Given the description of an element on the screen output the (x, y) to click on. 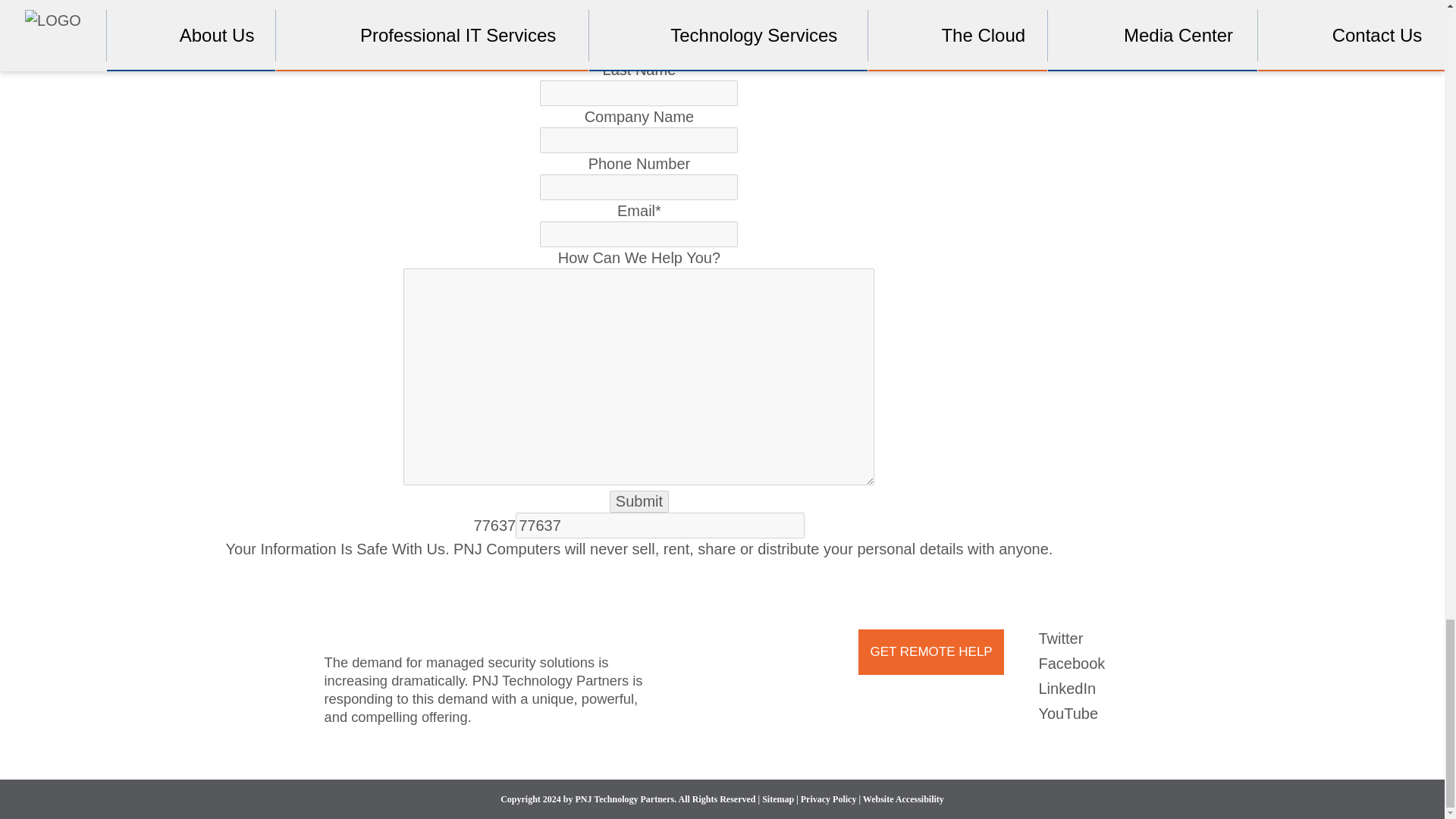
Submit (639, 501)
77637 (660, 525)
